Given the description of an element on the screen output the (x, y) to click on. 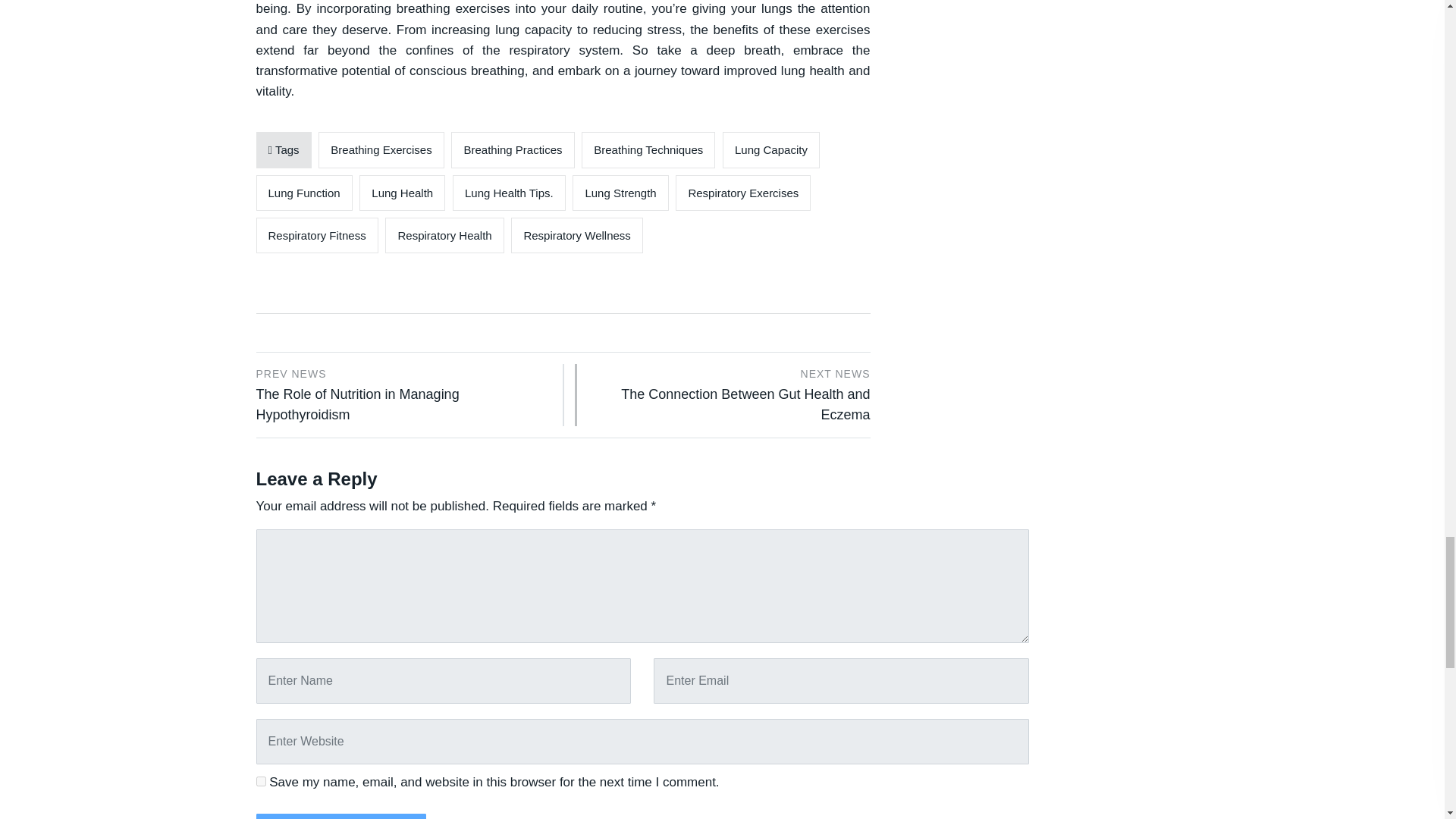
yes (261, 781)
Post Comment (341, 816)
